Given the description of an element on the screen output the (x, y) to click on. 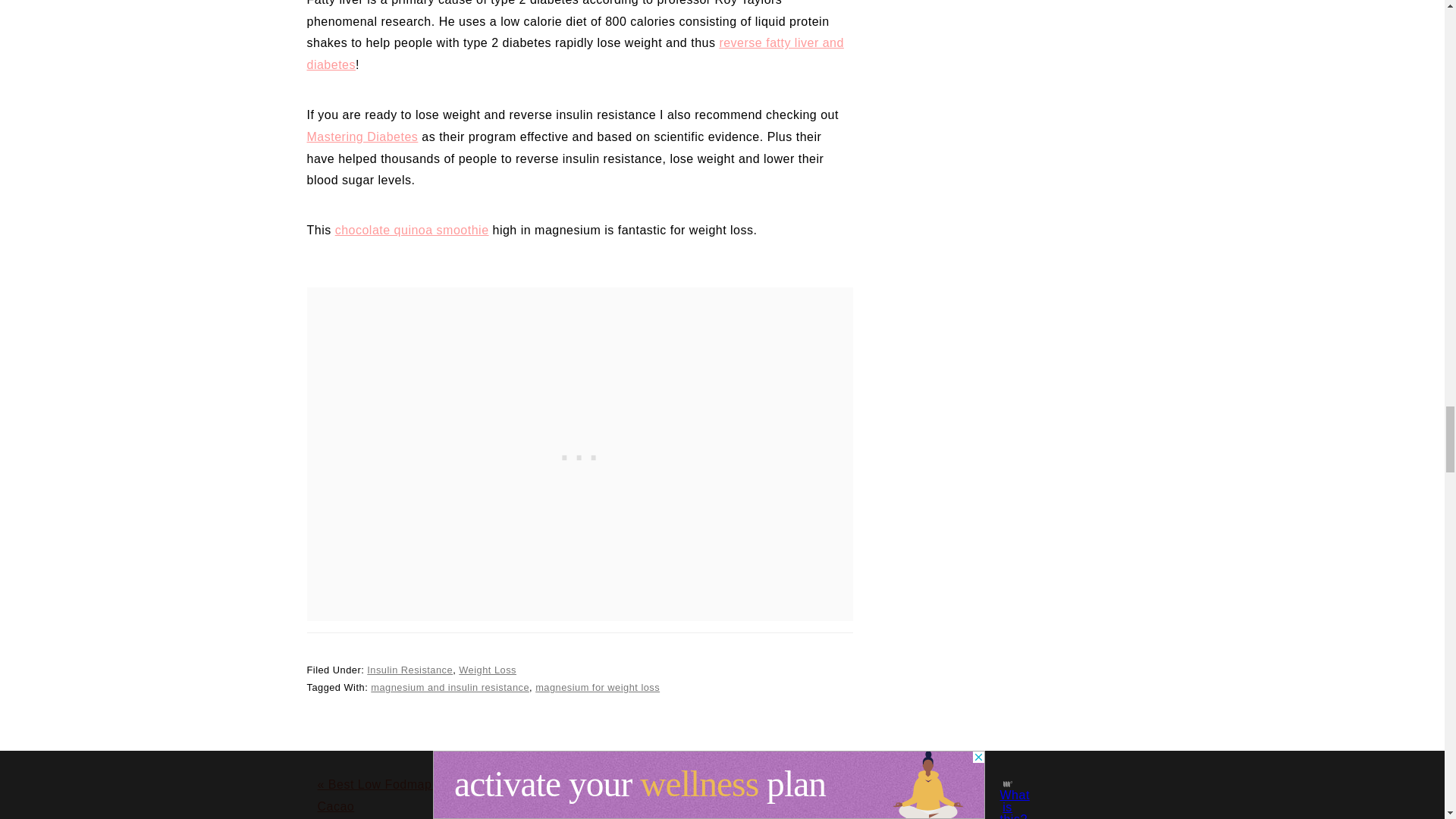
chocolate quinoa smoothie (411, 229)
magnesium for weight loss (597, 686)
Mastering Diabetes (361, 136)
Weight Loss (487, 669)
reverse fatty liver and diabetes (574, 53)
Insulin Resistance (409, 669)
magnesium and insulin resistance (450, 686)
